Given the description of an element on the screen output the (x, y) to click on. 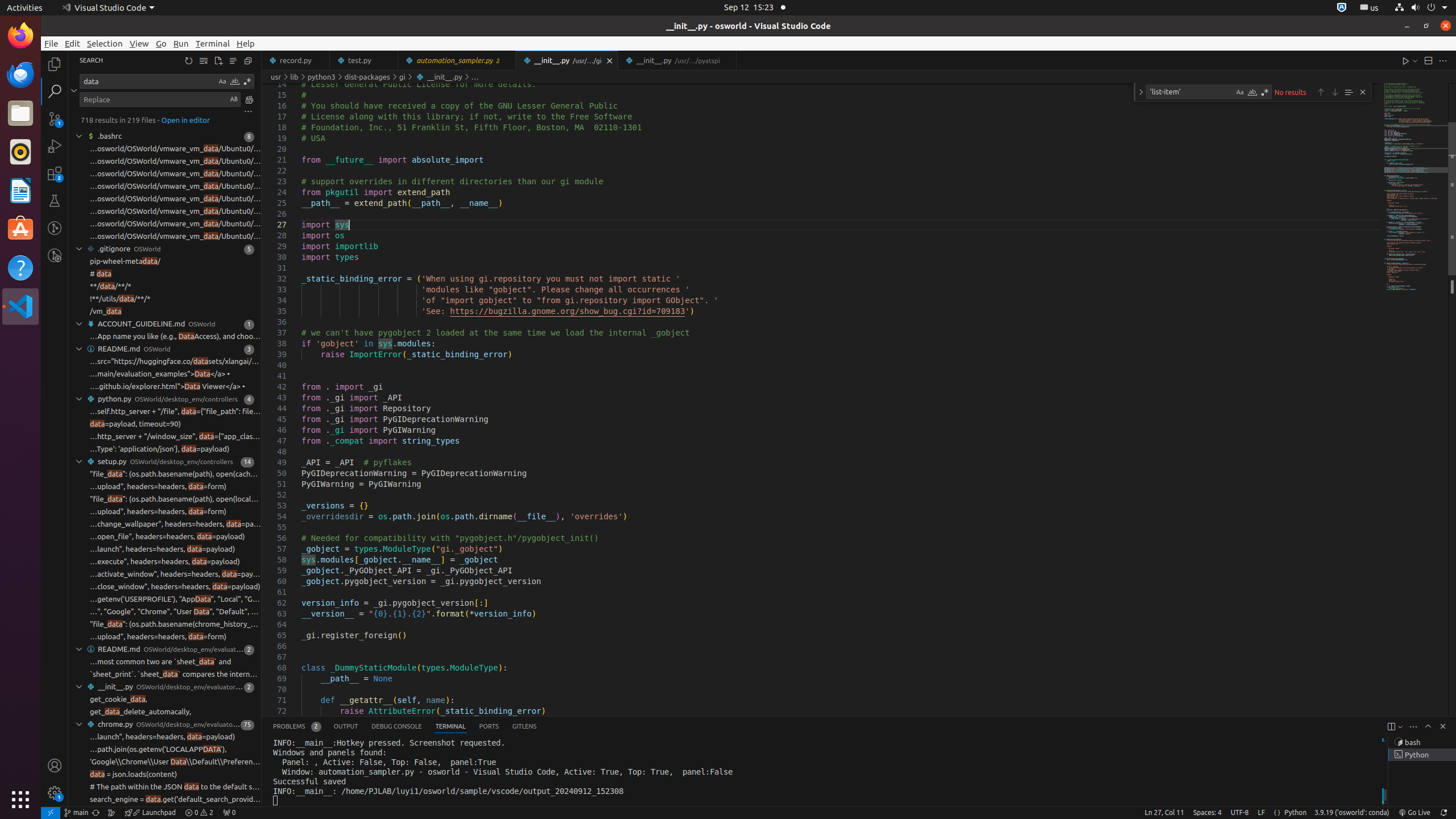
…('default_search_provider_data', {}).get('template_url_data', {}).get('short_name', Element type: link (175, 811)
'# data' at column 3 found data Element type: tree-item (164, 273)
' search_engine = data.get('default_search_provider_data', {}).get('template_url_data', {}).get('short_name',' at column 25 found data Element type: tree-item (164, 798)
….github.io/explorer.html">Data Viewer</a> • Element type: link (167, 386)
…osworld/OSWorld/vmware_vm_data/Ubuntu0/Ubuntu0.vmx" "/home/user/vm.log" "/home/PJLAB/luyi1/osworld/OSWorld/pylog/vm_test.log"' Element type: link (175, 160)
